Given the description of an element on the screen output the (x, y) to click on. 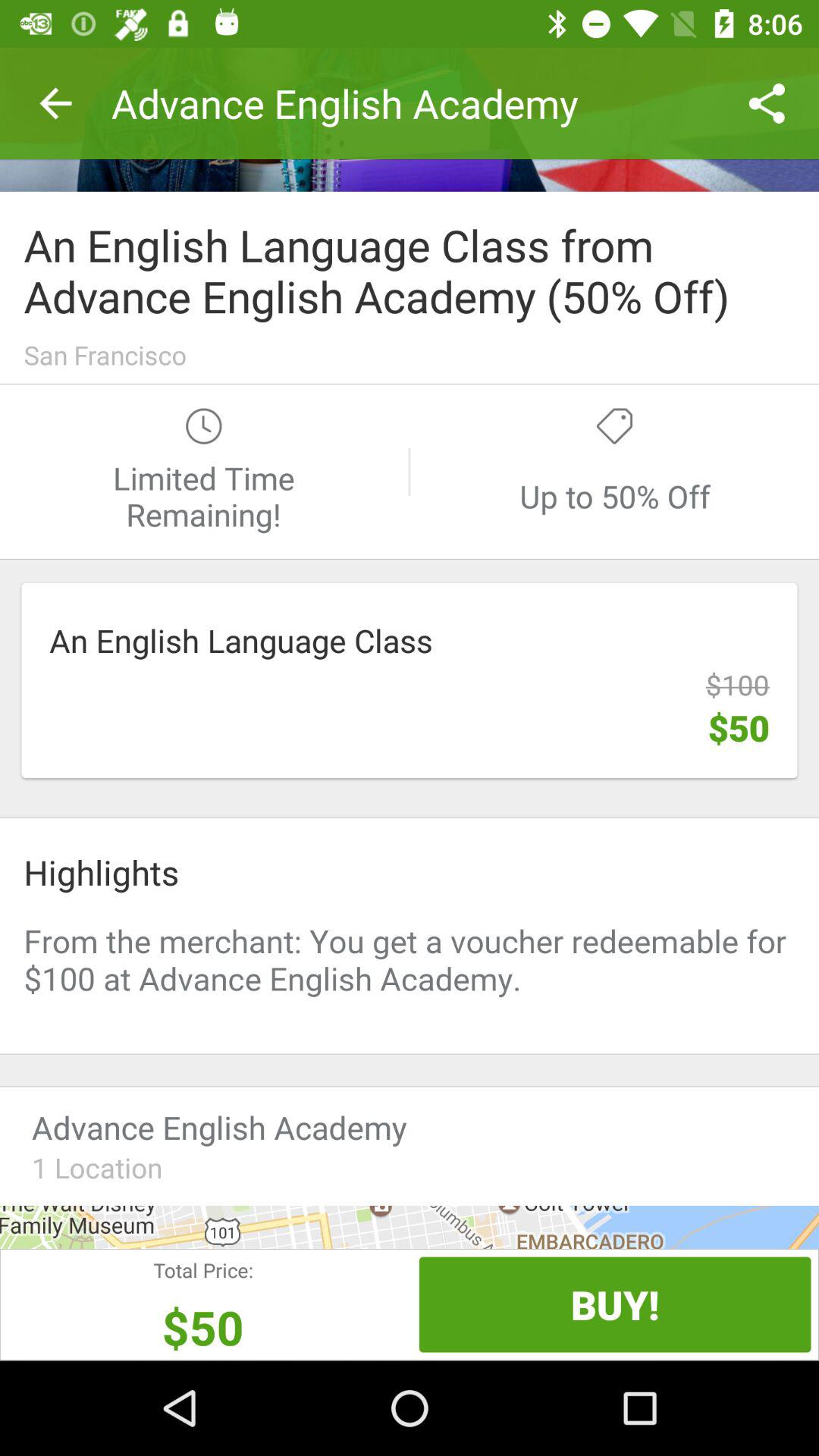
promotional offers (409, 966)
